Given the description of an element on the screen output the (x, y) to click on. 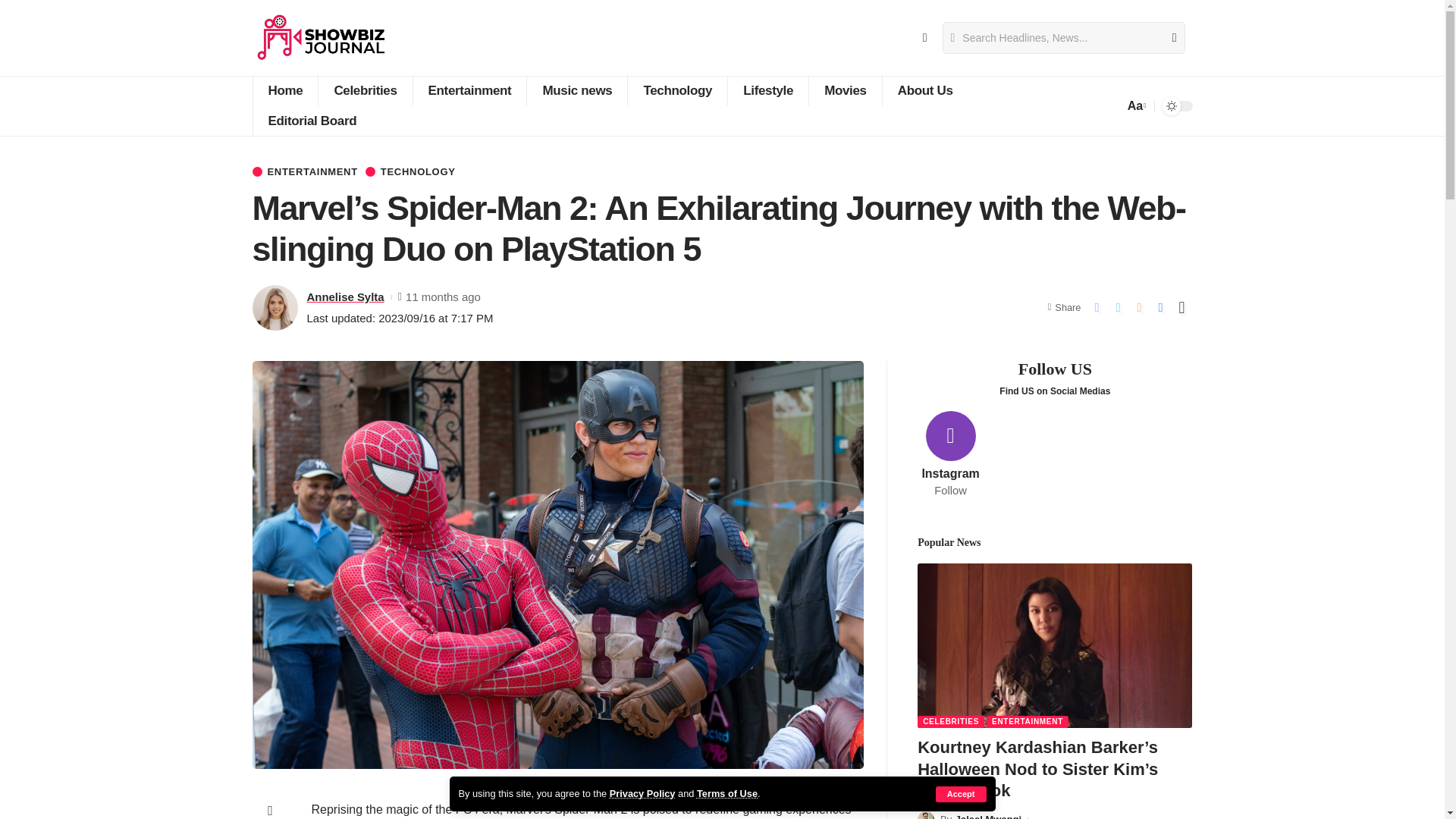
Accept (961, 794)
Home (284, 91)
Terms of Use (727, 793)
Entertainment (469, 91)
Movies (845, 91)
Privacy Policy (642, 793)
Aa (1135, 105)
Technology (676, 91)
Editorial Board (311, 121)
The Showbiz Journal (320, 37)
